Given the description of an element on the screen output the (x, y) to click on. 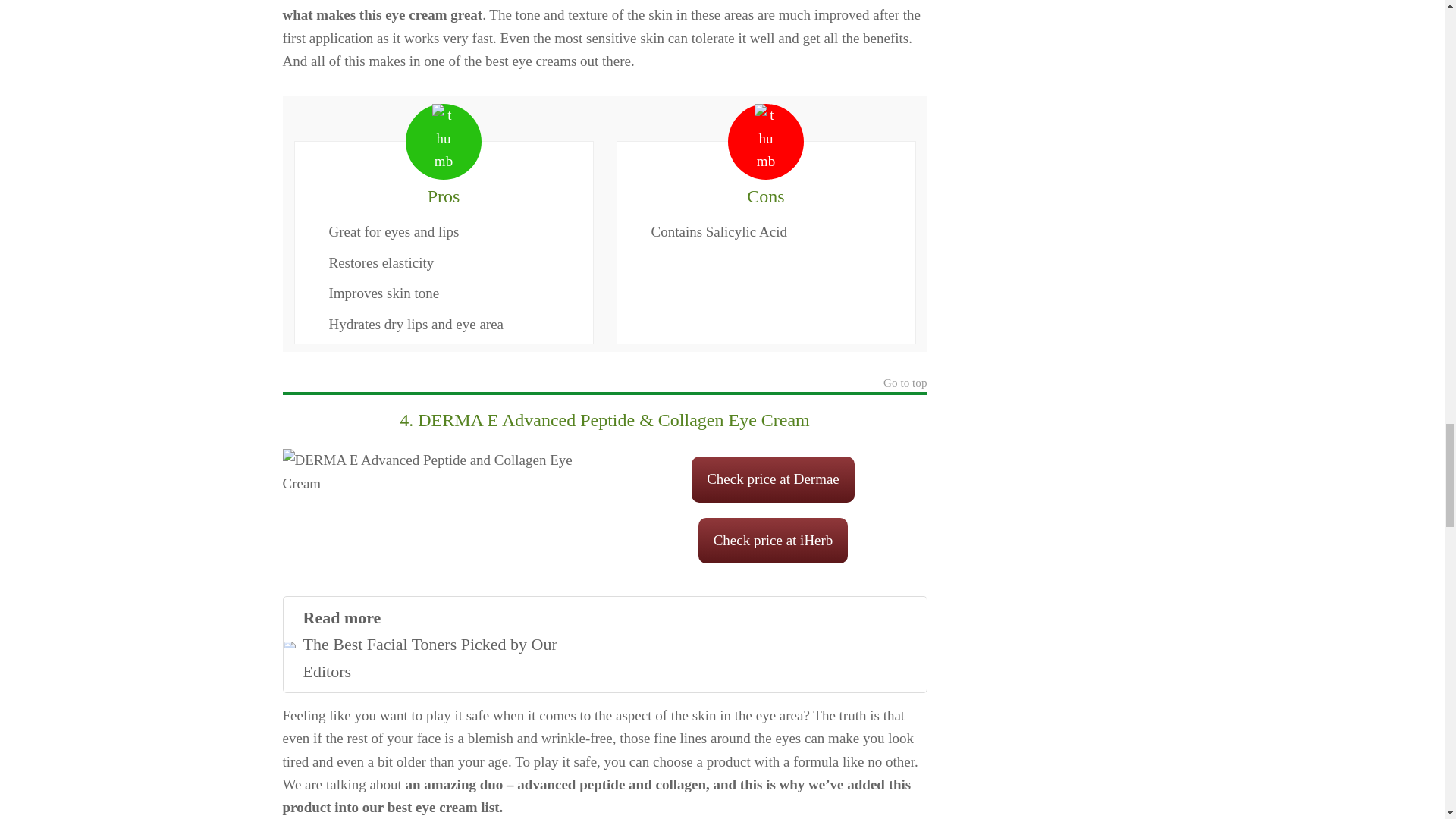
Go to top (604, 644)
Check price at iHerb (904, 384)
Check price at Dermae (773, 540)
